Given the description of an element on the screen output the (x, y) to click on. 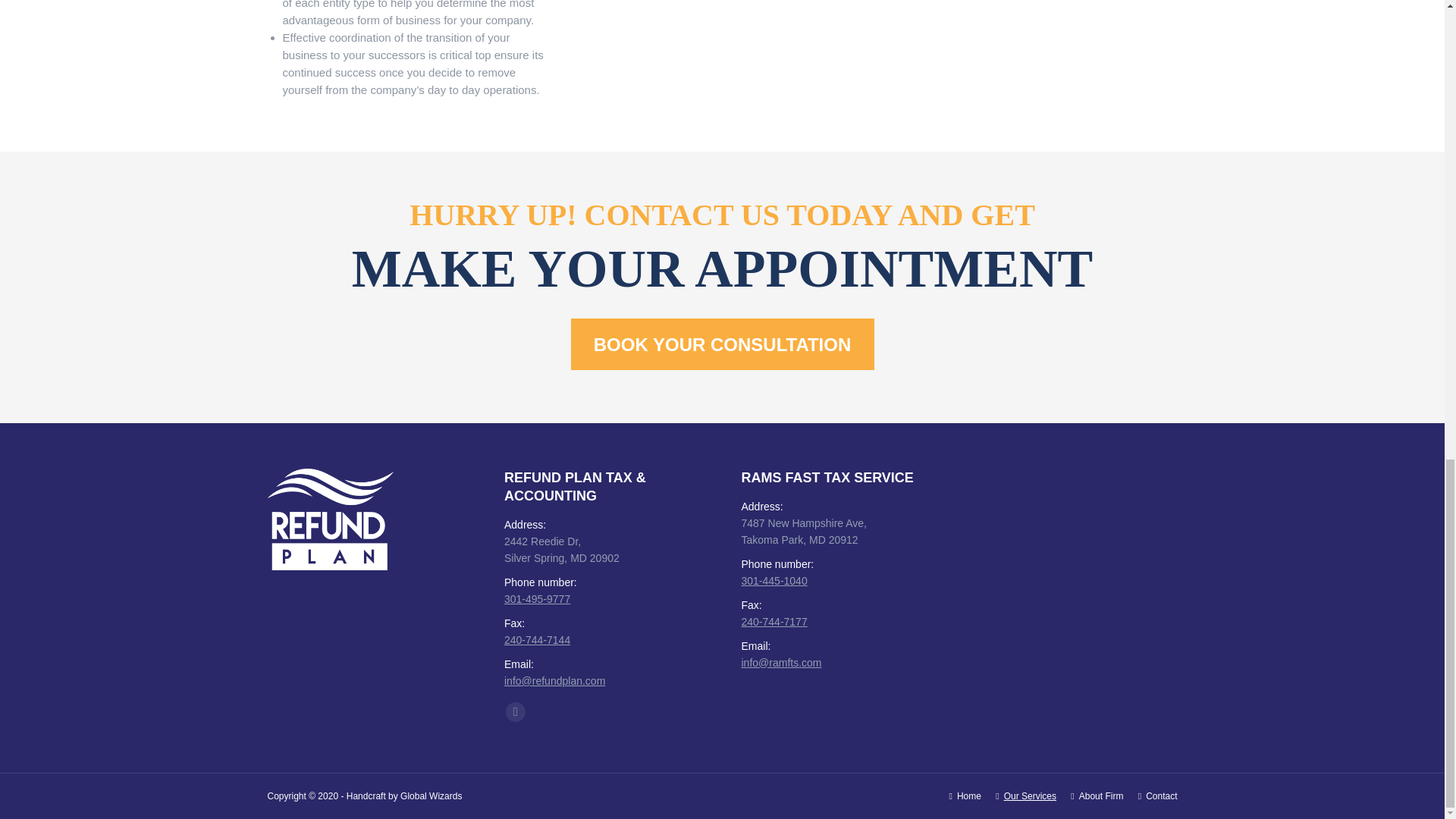
Facebook (515, 711)
